Given the description of an element on the screen output the (x, y) to click on. 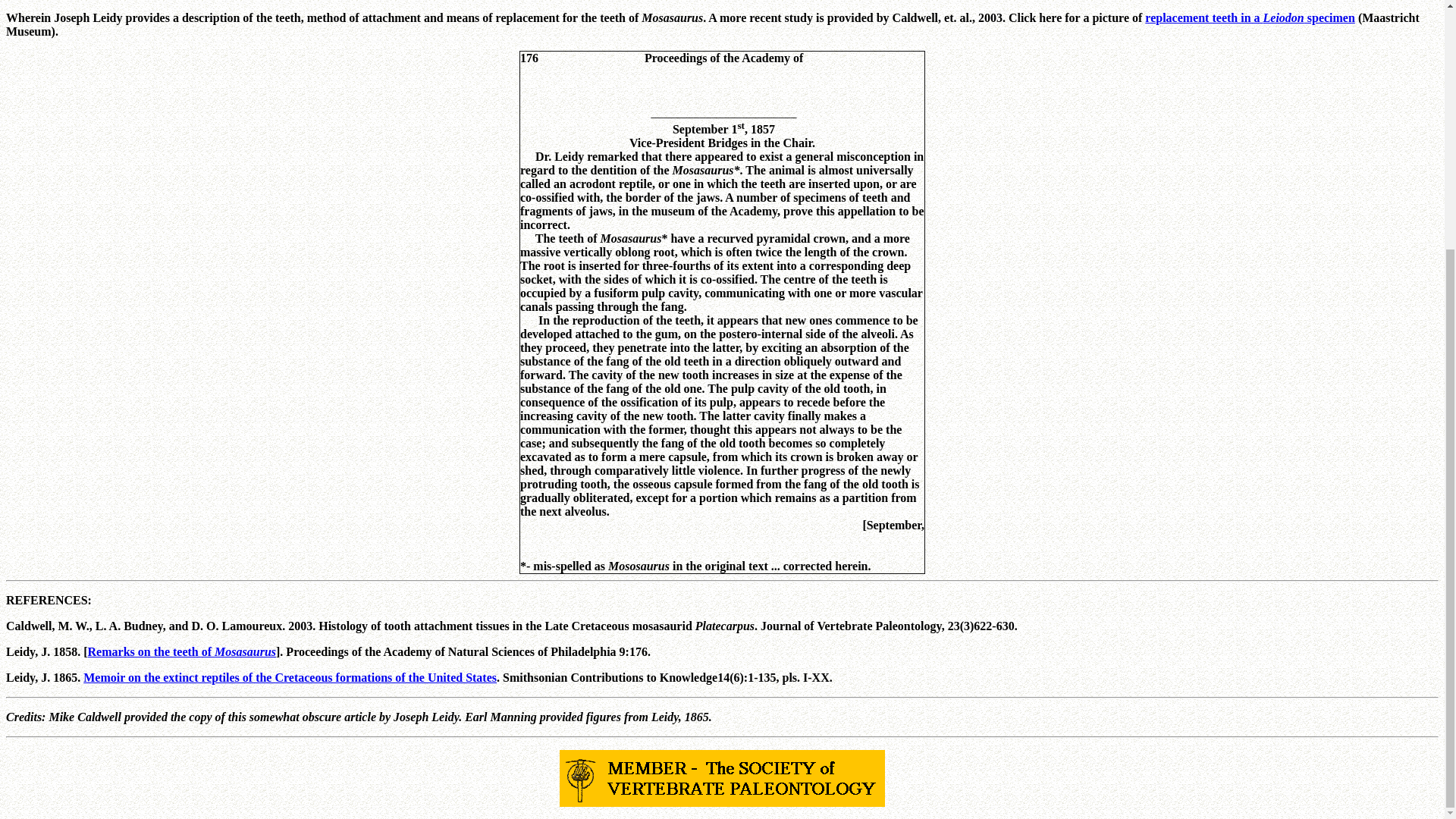
replacement teeth in a Leiodon specimen (1249, 17)
Remarks on the teeth of Mosasaurus (181, 651)
